Given the description of an element on the screen output the (x, y) to click on. 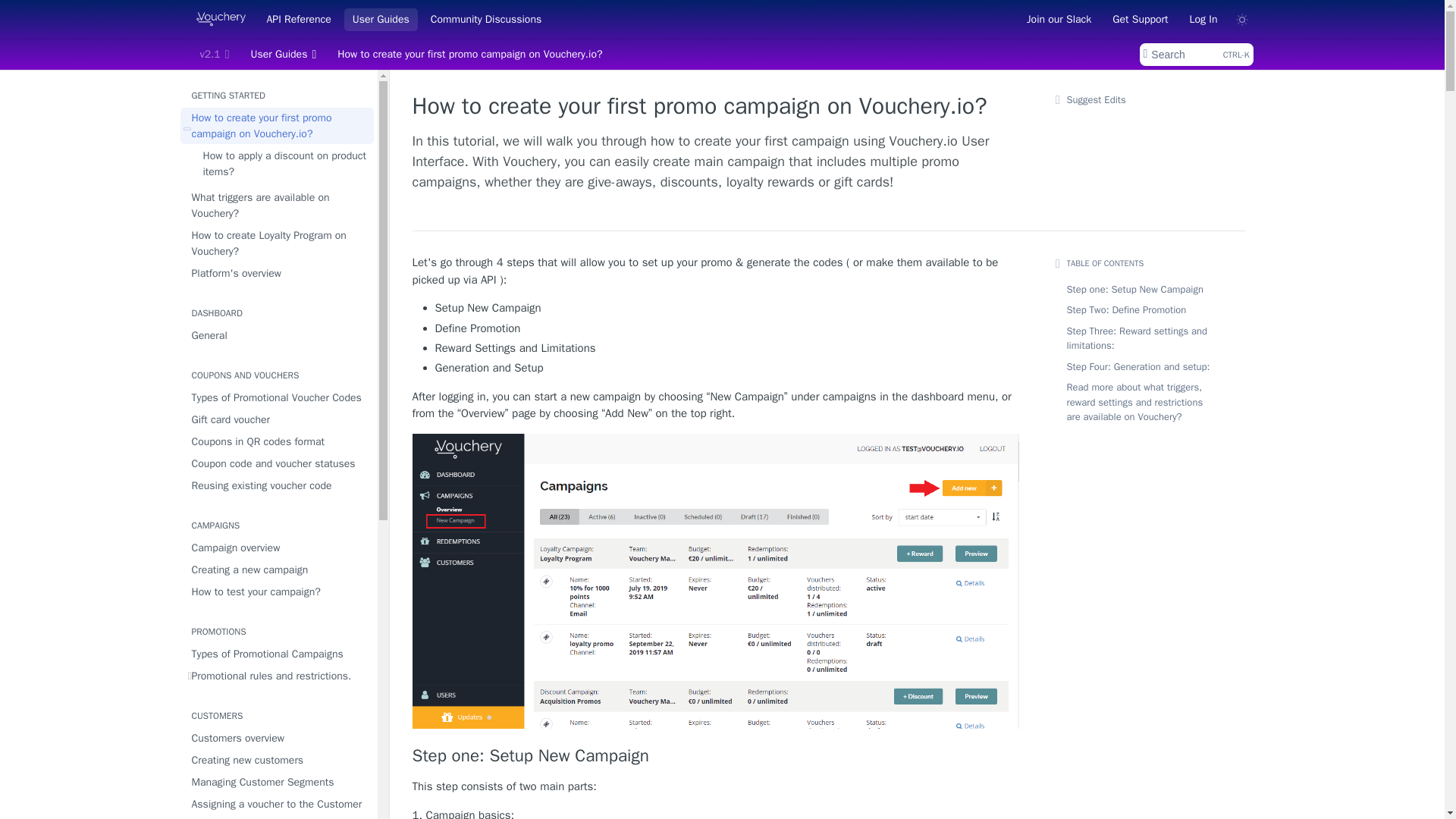
Get Support (1139, 18)
General (277, 335)
How to create your first promo campaign on Vouchery.io? (277, 125)
Join our Slack (1058, 18)
Gift card voucher (277, 419)
Coupon code and voucher statuses (277, 463)
Log In (1202, 18)
User Guides (283, 54)
API Reference (1195, 54)
Types of Promotional Voucher Codes (298, 18)
User Guides (277, 397)
How to create Loyalty Program on Vouchery? (380, 18)
Platform's overview (277, 243)
Coupons in QR codes format (277, 272)
